Given the description of an element on the screen output the (x, y) to click on. 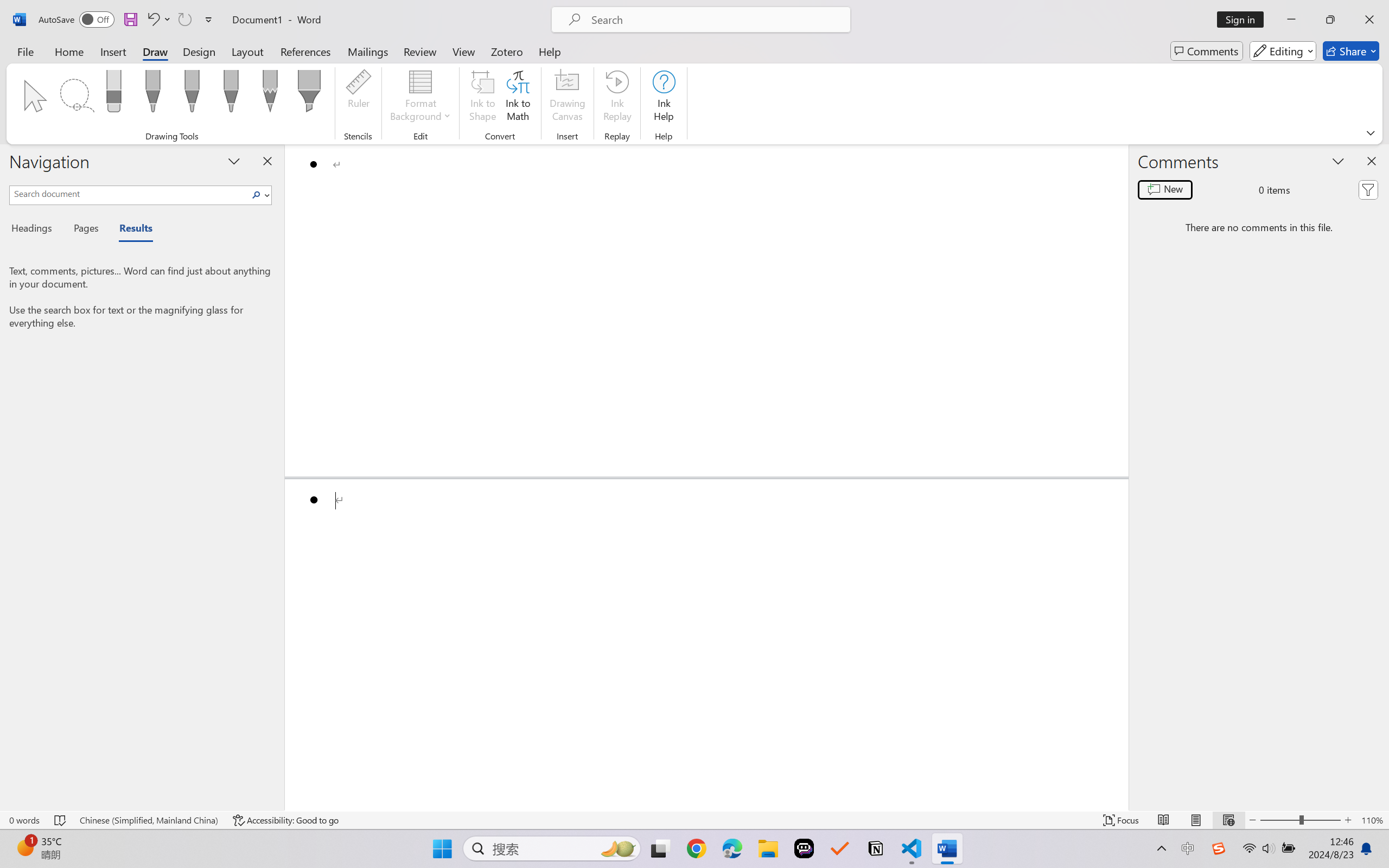
Pen: Red, 0.5 mm (191, 94)
